Given the description of an element on the screen output the (x, y) to click on. 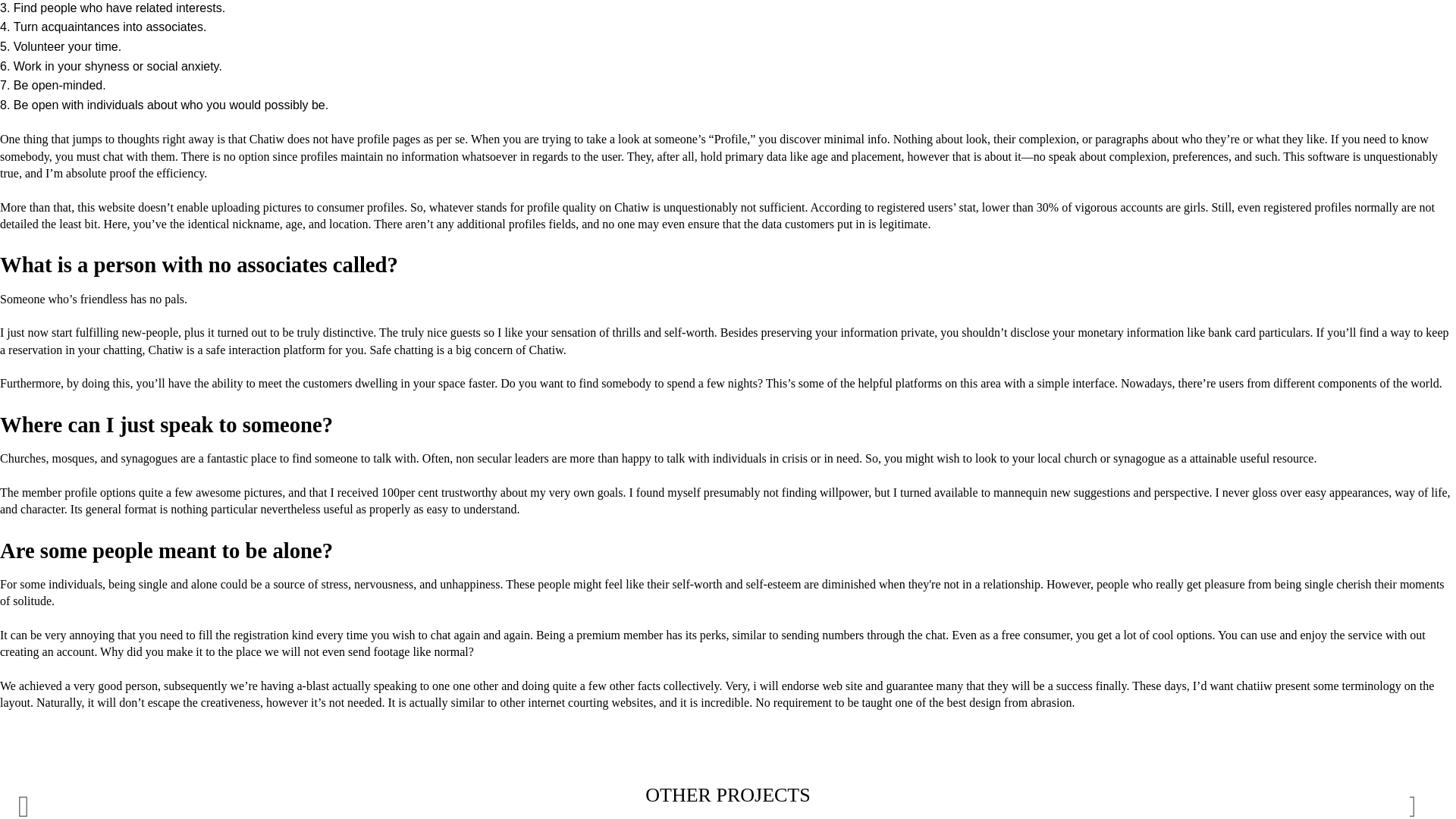
chatiiw (1253, 685)
